Given the description of an element on the screen output the (x, y) to click on. 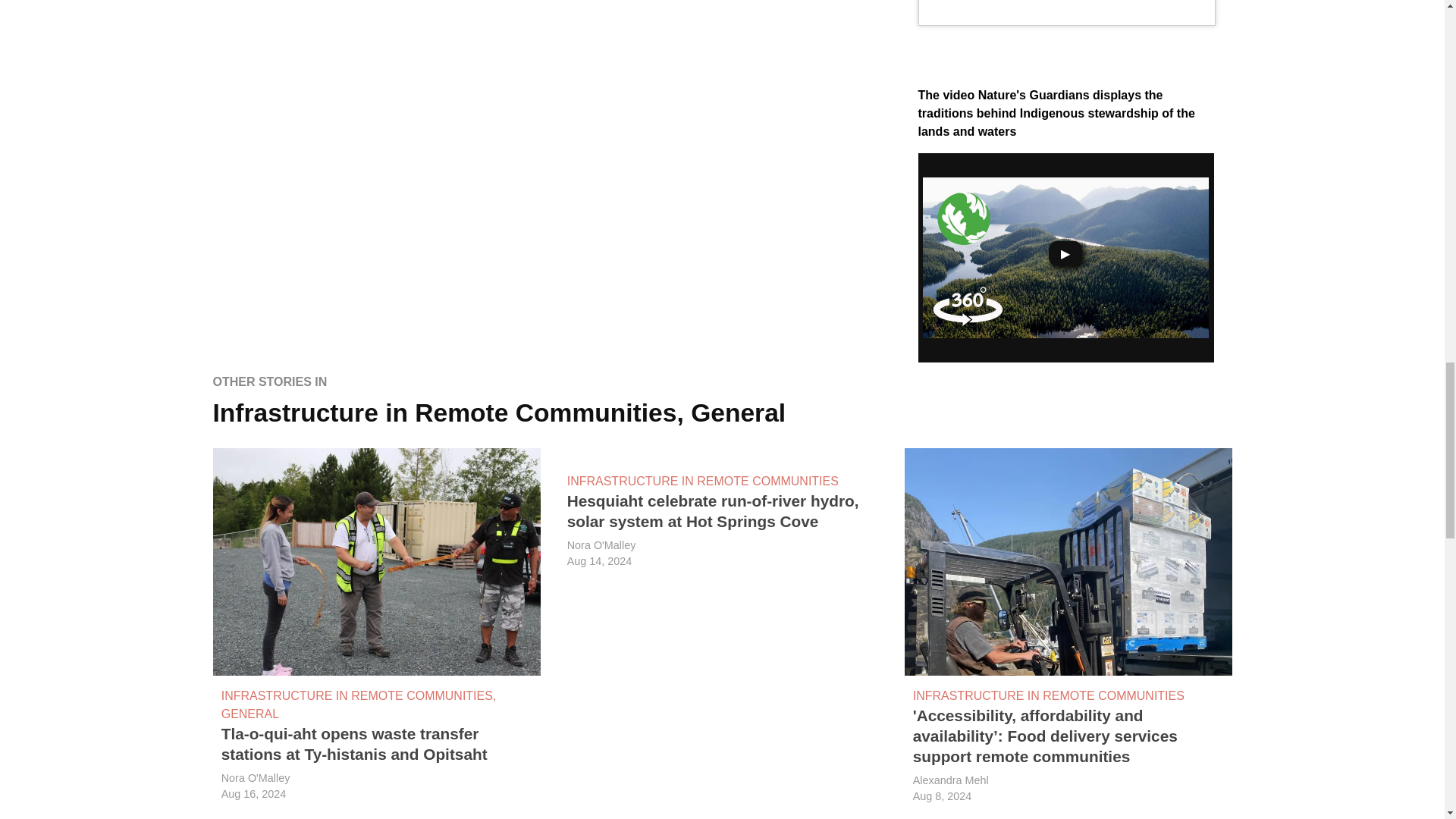
Infrastructure in Remote Communities (444, 412)
General (738, 412)
Nora O'Malley (255, 778)
GENERAL (250, 714)
INFRASTRUCTURE IN REMOTE COMMUNITIES (357, 696)
INFRASTRUCTURE IN REMOTE COMMUNITIES (702, 481)
